Given the description of an element on the screen output the (x, y) to click on. 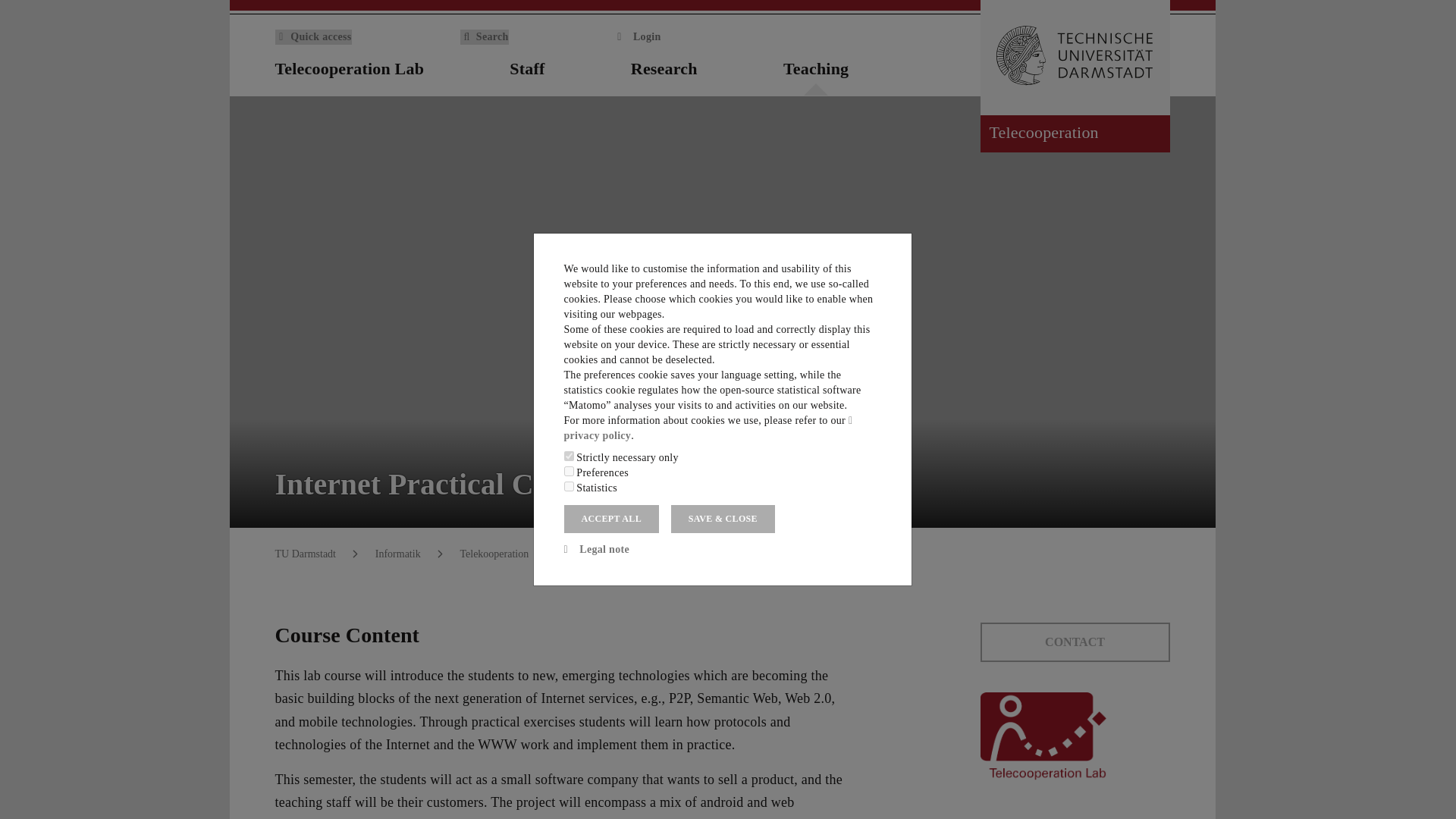
essential (568, 456)
Skip menu (13, 5)
usability (568, 470)
statistics (568, 486)
Go to home of TU Darmstadt (1074, 57)
Home of institution (1160, 69)
